Given the description of an element on the screen output the (x, y) to click on. 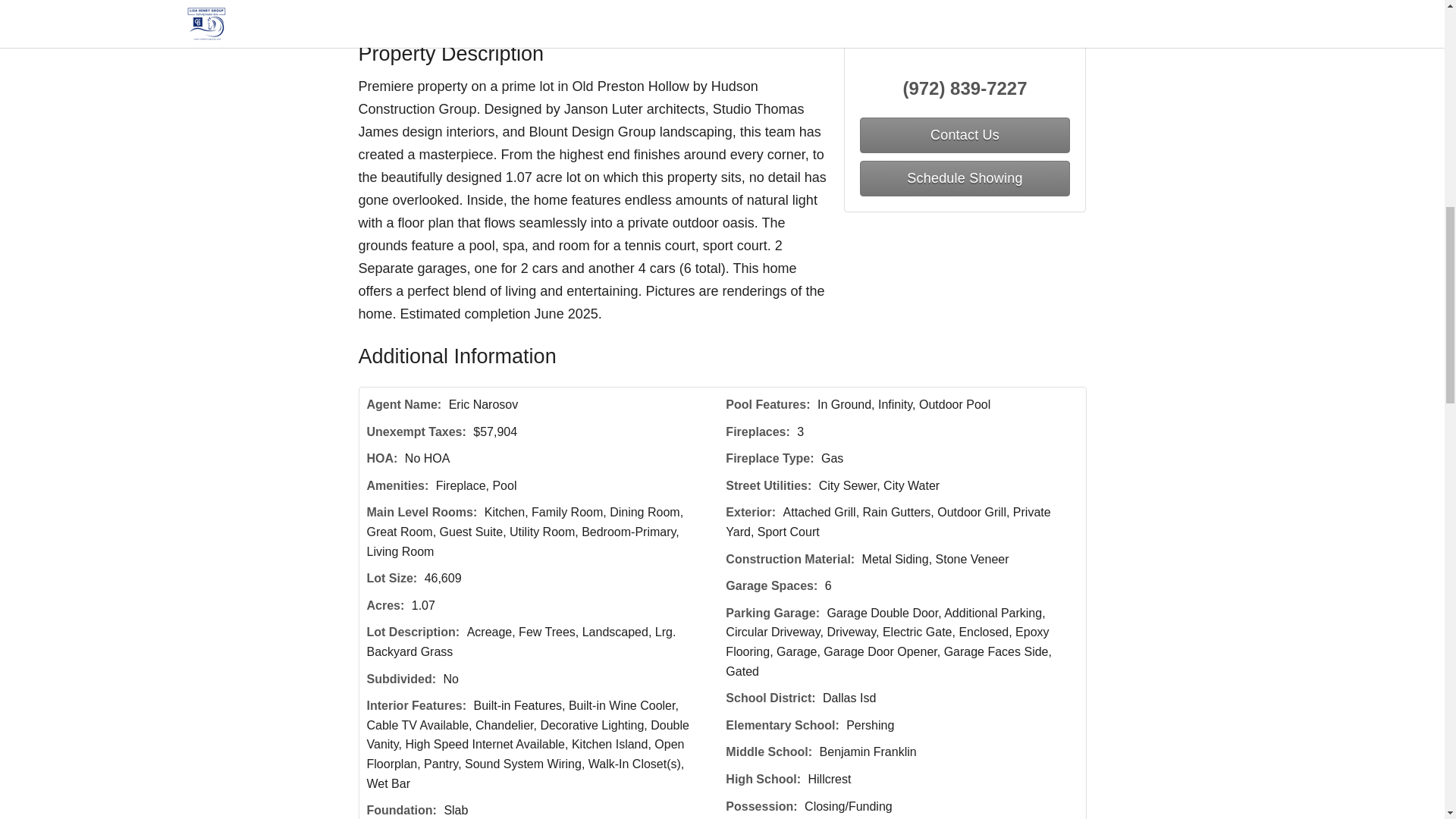
View on Map (560, 11)
New Search (1041, 11)
Call Us (481, 11)
Contact Us (407, 11)
Share (636, 11)
